Given the description of an element on the screen output the (x, y) to click on. 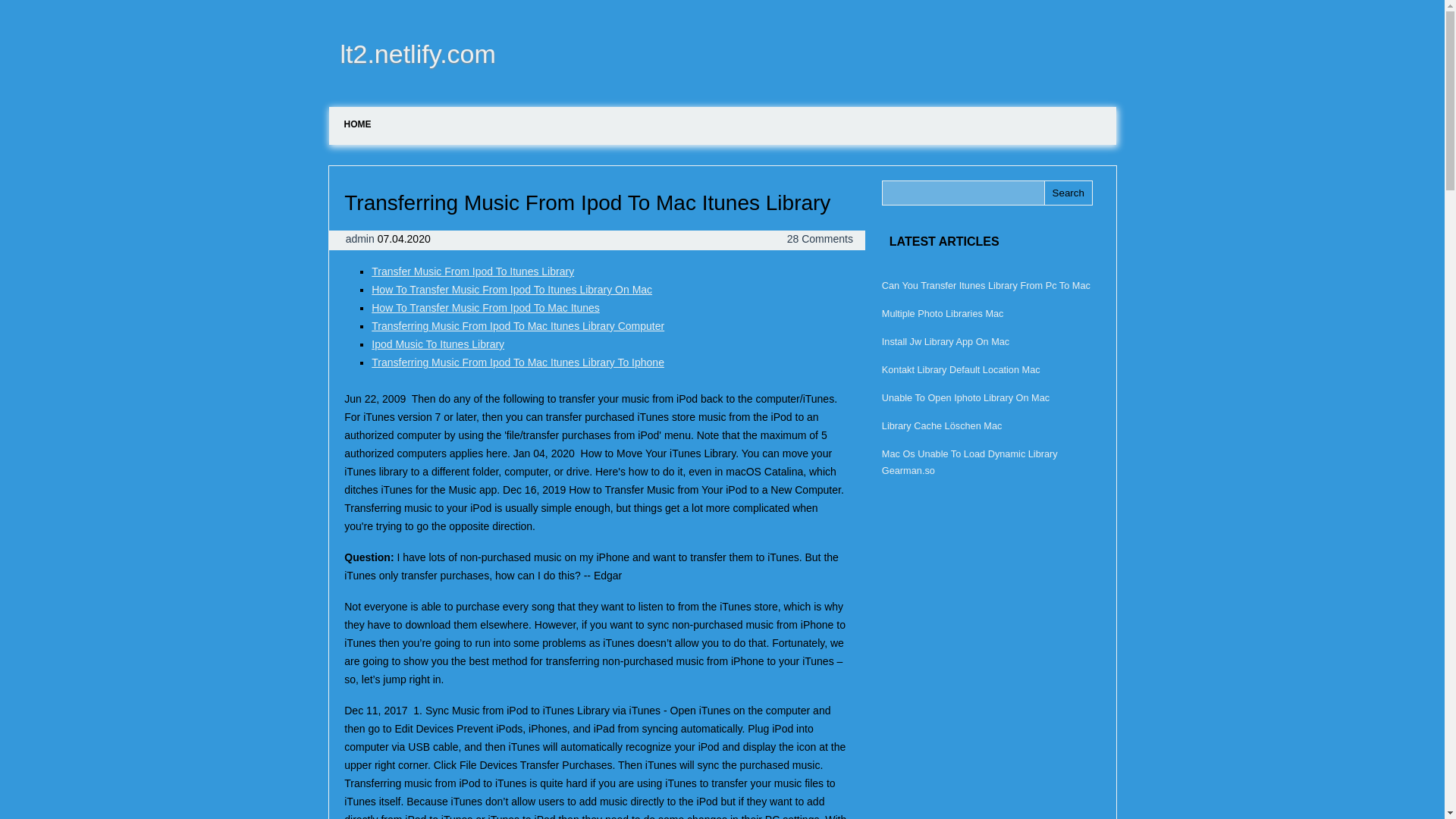
Unable To Open Iphoto Library On Mac (965, 397)
Search (1068, 192)
Transferring Music From Ipod To Mac Itunes Library Computer (517, 326)
Transferring Music From Ipod To Mac Itunes Library To Iphone (517, 362)
lt2.netlify.com (412, 53)
HOME (358, 123)
Posts by admin (361, 238)
How To Transfer Music From Ipod To Mac Itunes (485, 307)
Kontakt Library Default Location Mac (961, 369)
Mac Os Unable To Load Dynamic Library Gearman.so (970, 461)
